Given the description of an element on the screen output the (x, y) to click on. 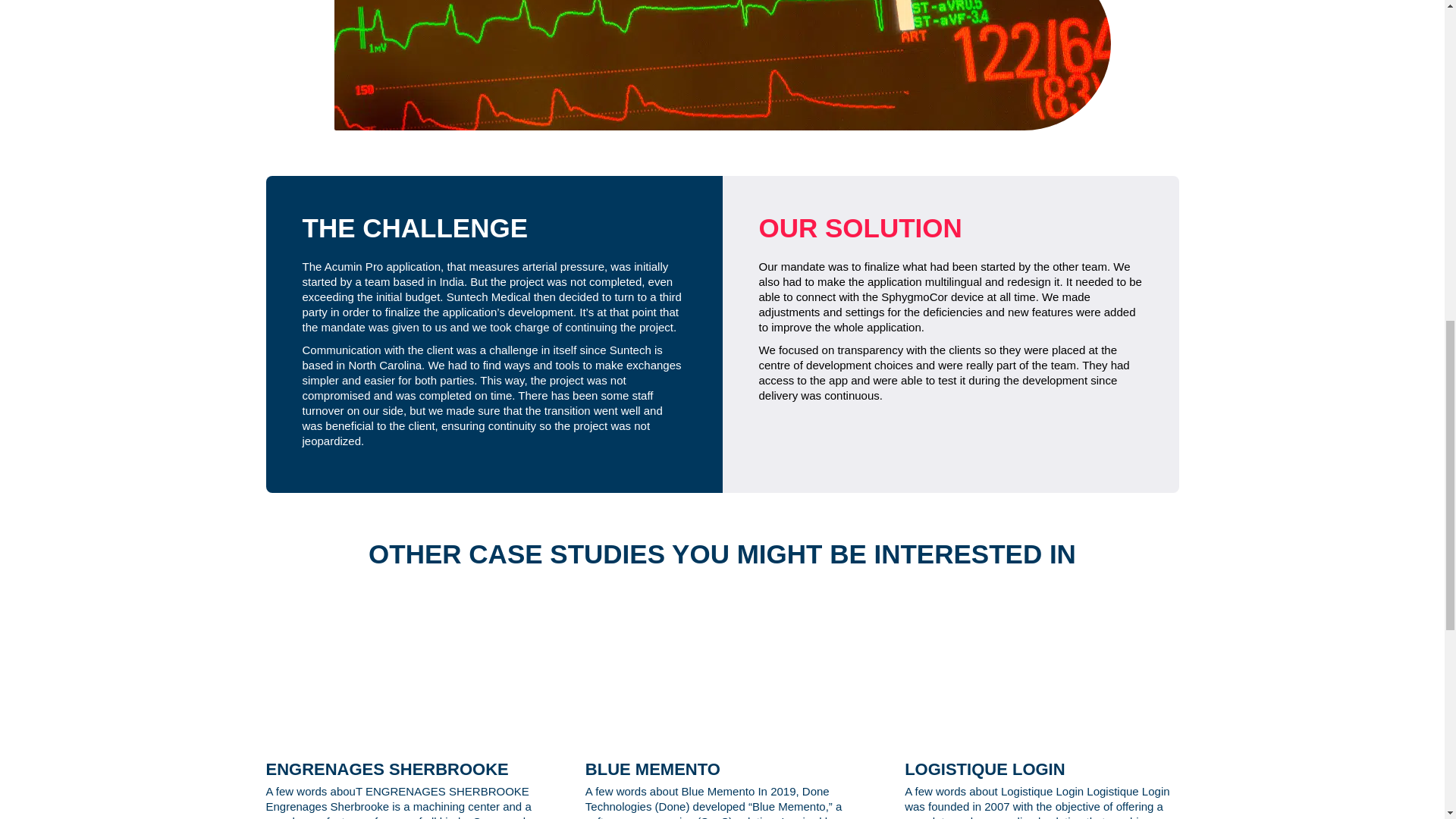
img-suntech (721, 65)
